Given the description of an element on the screen output the (x, y) to click on. 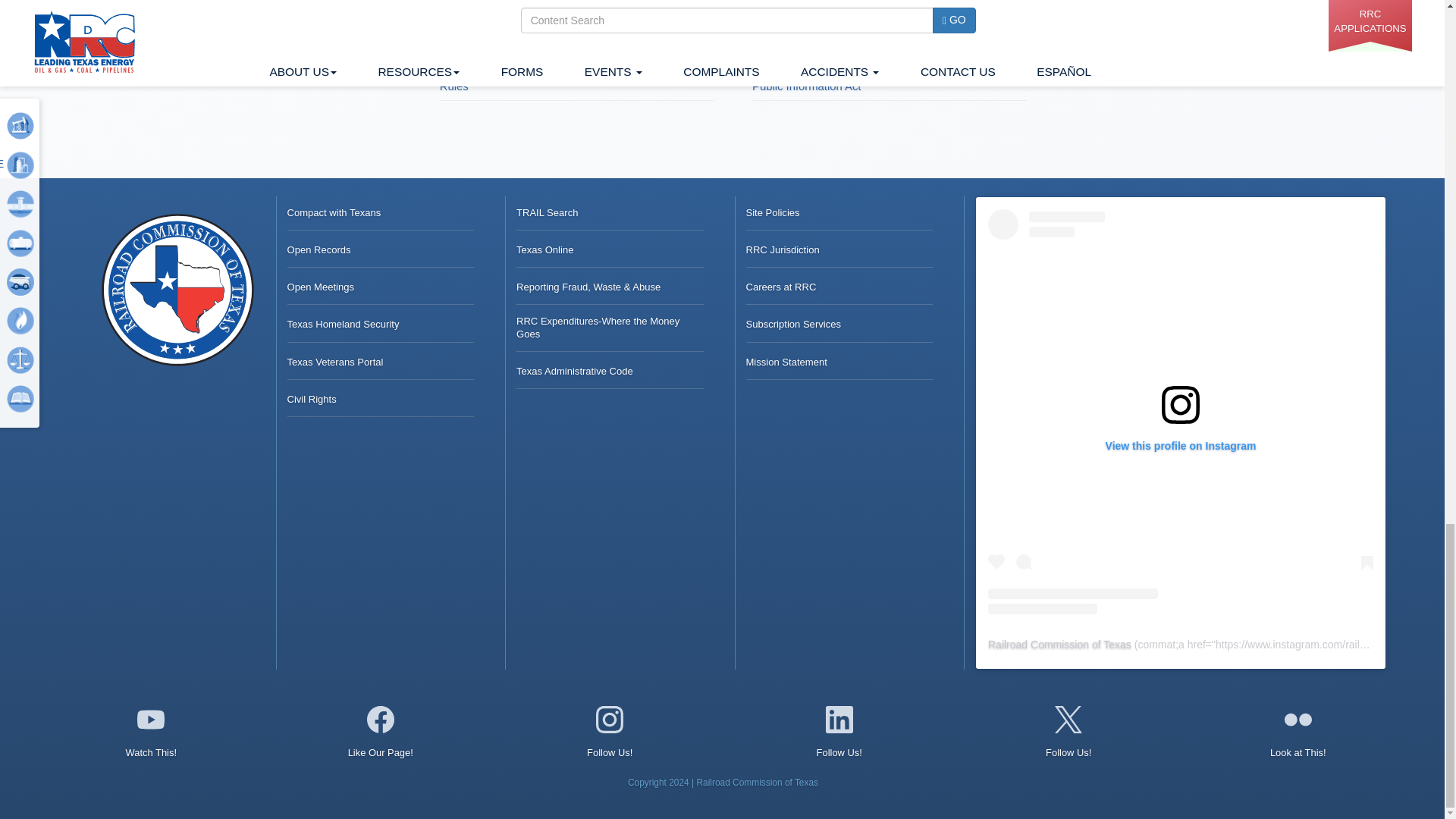
Data - Online Research Queries (519, 3)
Research and Statistics (523, 57)
RRC Locations (790, 28)
Data Visualizations (487, 28)
Compact with Texans (333, 213)
What We Do (803, 57)
Agency News (766, 3)
